Given the description of an element on the screen output the (x, y) to click on. 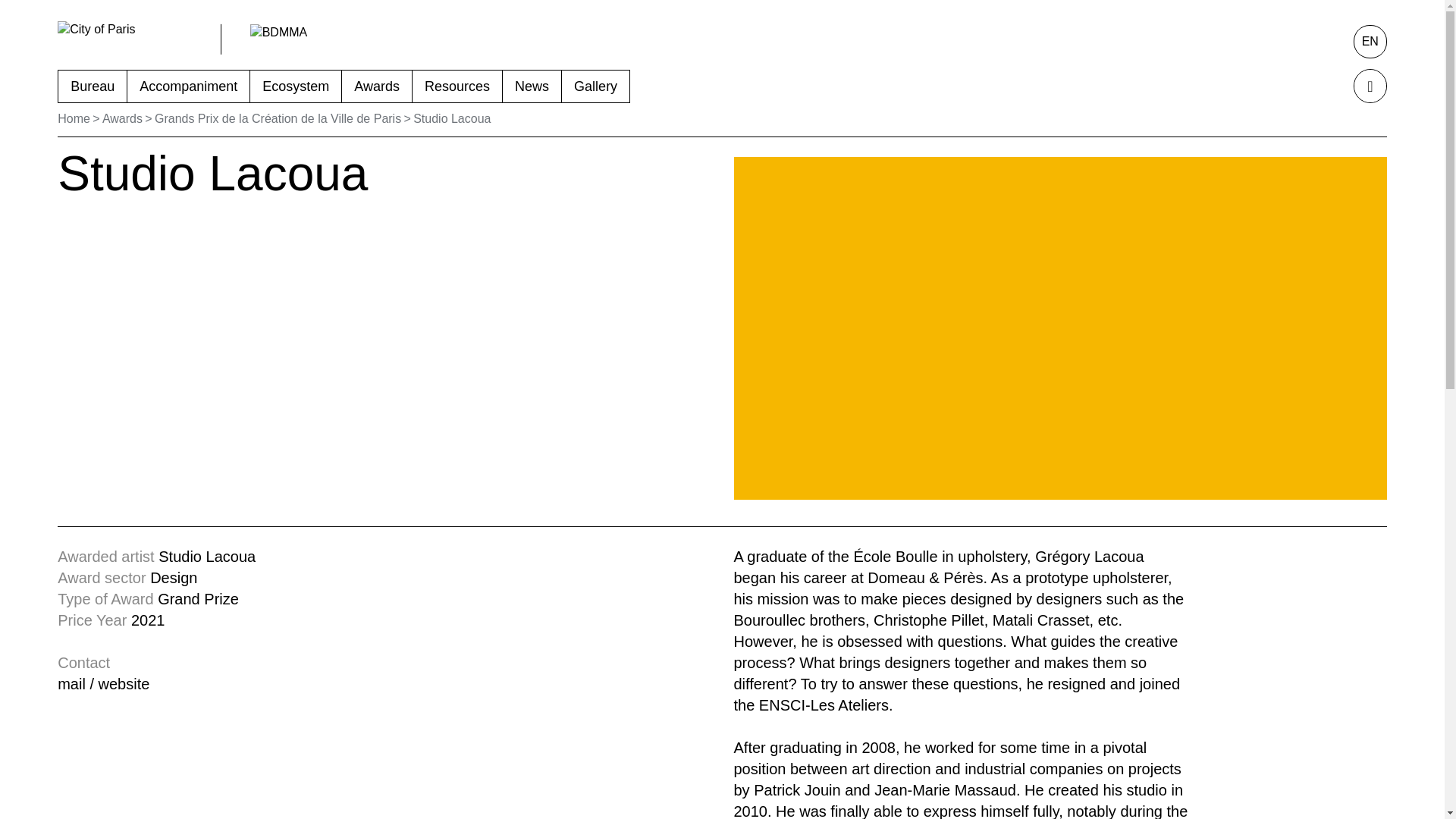
News (532, 86)
Awards (121, 118)
Awards (377, 86)
EN (1370, 41)
Validate (1370, 85)
Studio Lacoua (451, 118)
Resources (457, 86)
Accompaniment (189, 86)
Ecosystem (296, 86)
